Given the description of an element on the screen output the (x, y) to click on. 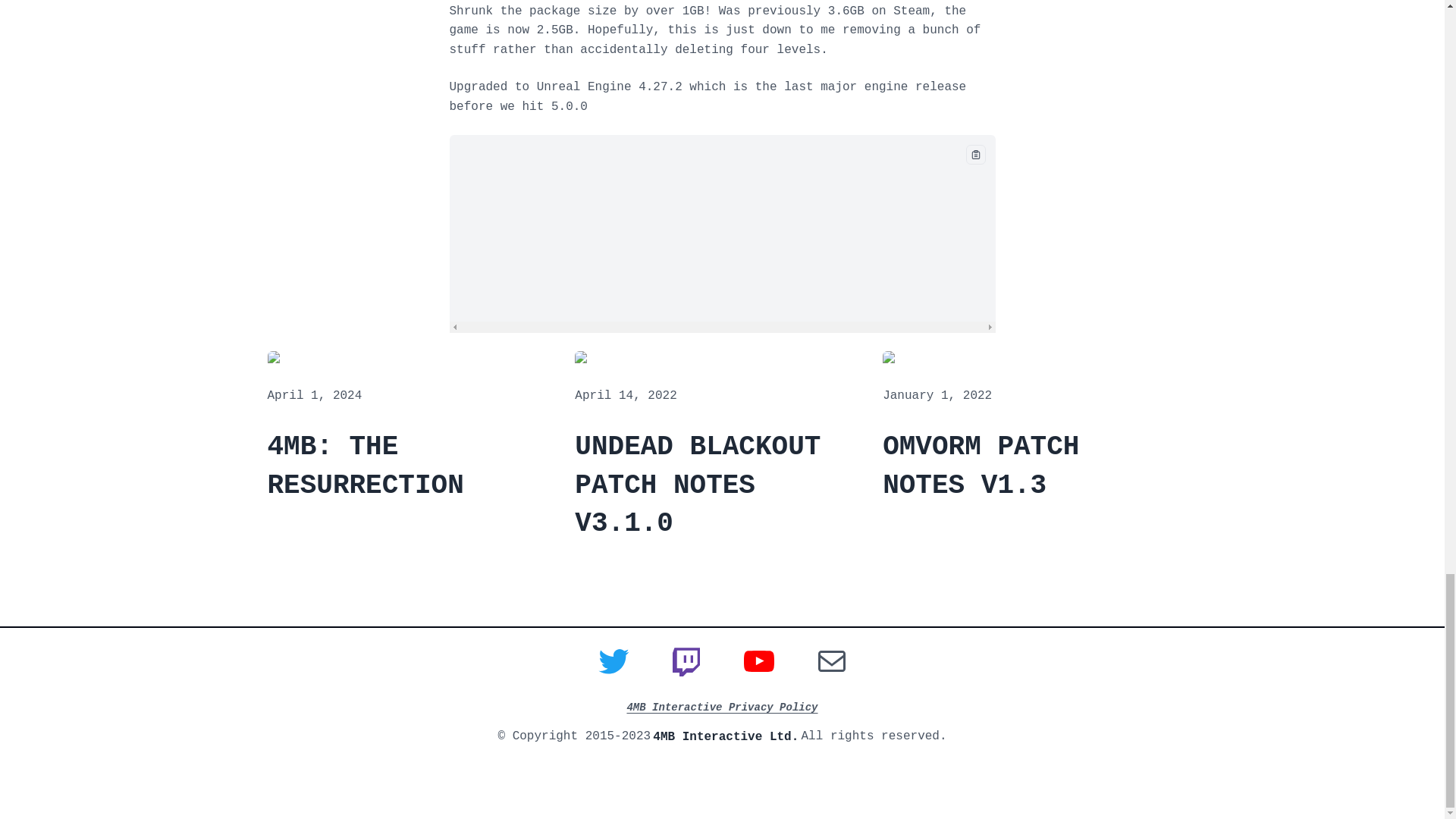
OMVORM PATCH NOTES V1.3 (1029, 466)
Copy to clipboard (975, 154)
4MB Interactive Privacy Policy (721, 707)
4MB: THE RESURRECTION (413, 466)
4MB Interactive Ltd. (724, 736)
UNDEAD BLACKOUT PATCH NOTES V3.1.0 (722, 485)
